Given the description of an element on the screen output the (x, y) to click on. 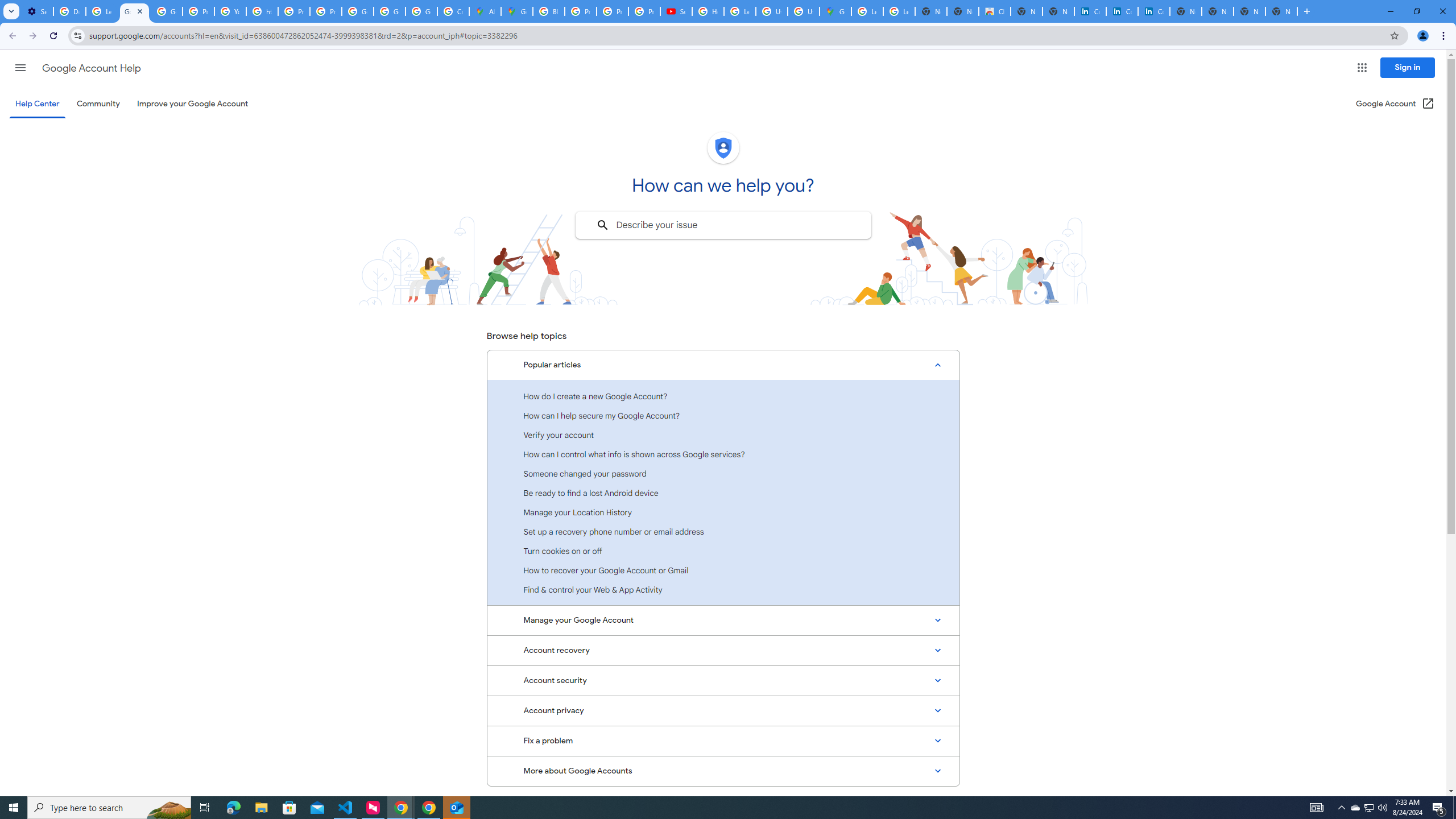
How Chrome protects your passwords - Google Chrome Help (708, 11)
Cookie Policy | LinkedIn (1089, 11)
Account security (722, 680)
Community (97, 103)
Turn cookies on or off (722, 551)
Set up a recovery phone number or email address (722, 531)
https://scholar.google.com/ (262, 11)
How can I control what info is shown across Google services? (722, 454)
Help Center (36, 103)
Google Maps (834, 11)
